Given the description of an element on the screen output the (x, y) to click on. 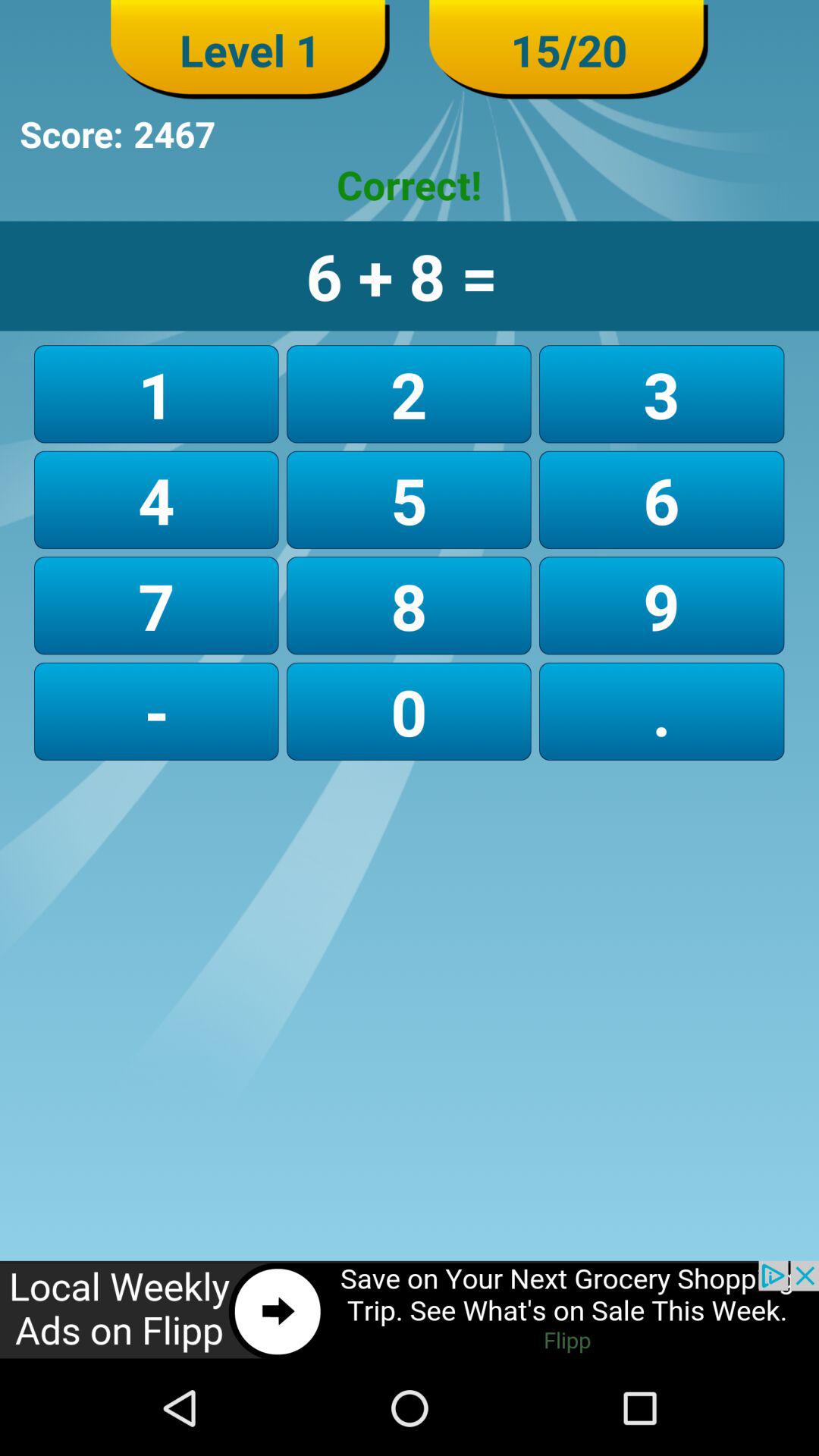
select the second number in the third row which is immediately above 0 (408, 604)
click on 0 button (408, 711)
click on button 6 (660, 499)
click on the numerical 3 (660, 393)
go to last option in last row (660, 711)
select 4 which is below 1 on the page (156, 499)
click on the symbol which is bellow the numerical 7 (156, 711)
